Given the description of an element on the screen output the (x, y) to click on. 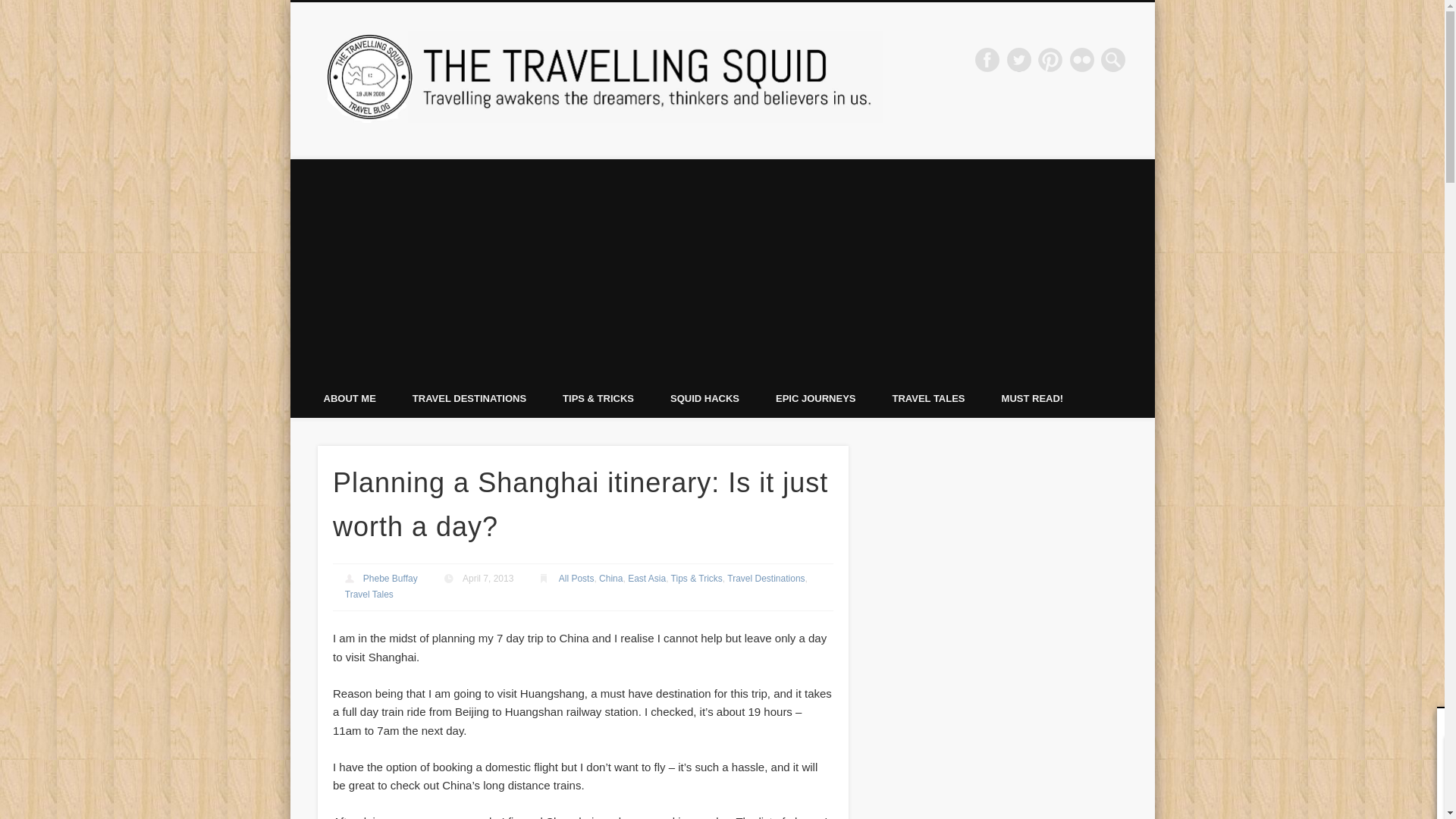
ABOUT ME (348, 398)
TRAVEL DESTINATIONS (469, 398)
Posts by Phebe Buffay (389, 578)
The Travelling Squid (1000, 59)
Facebook (986, 59)
Pinterest (1050, 59)
Search (11, 7)
Flickr (1082, 59)
Twitter (1018, 59)
